Given the description of an element on the screen output the (x, y) to click on. 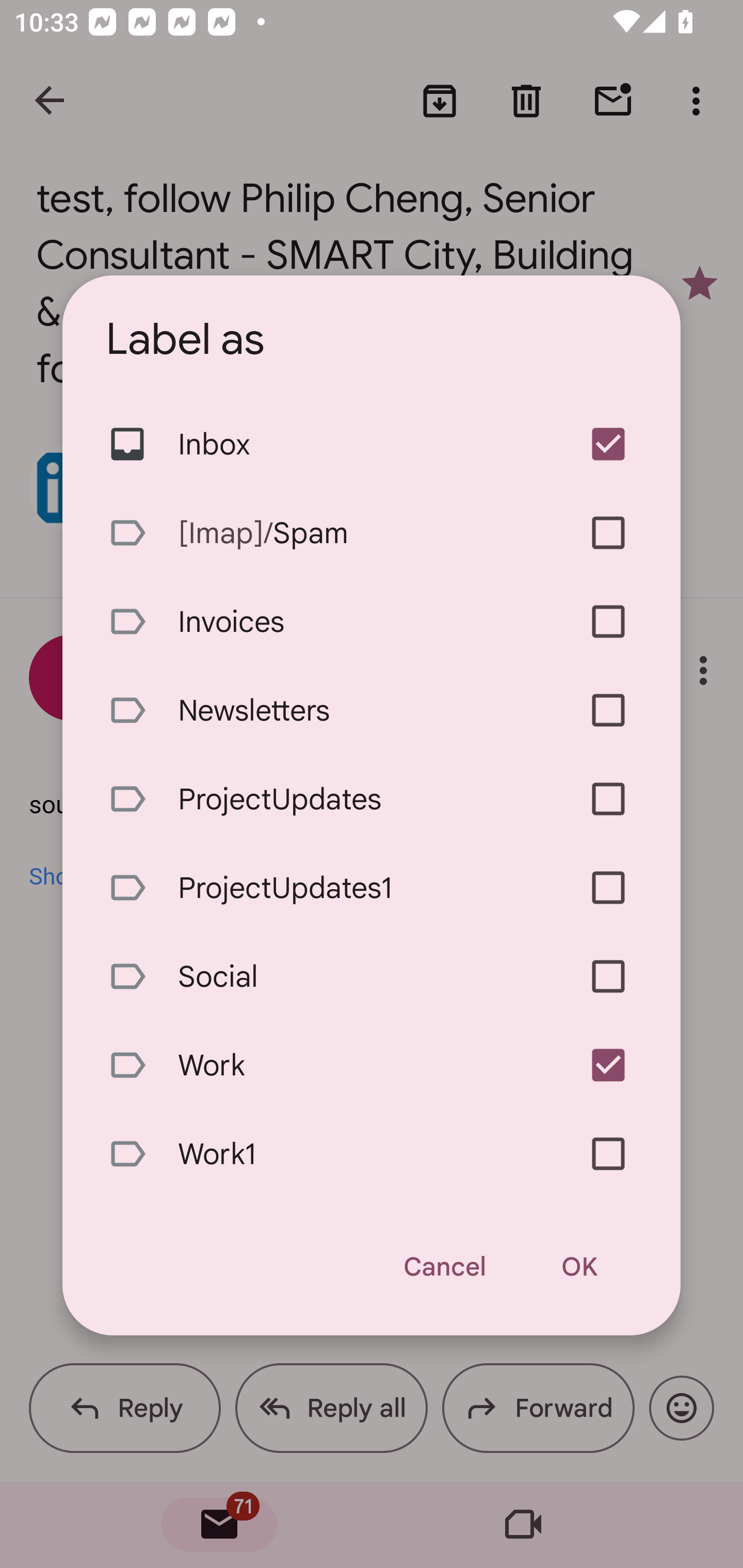
Inbox (371, 444)
[Imap]/Spam (371, 533)
Invoices (371, 621)
Newsletters (371, 710)
ProjectUpdates (371, 798)
ProjectUpdates1 (371, 887)
Social (371, 975)
Work (371, 1065)
Work1 (371, 1153)
Cancel (444, 1266)
OK (579, 1266)
